Given the description of an element on the screen output the (x, y) to click on. 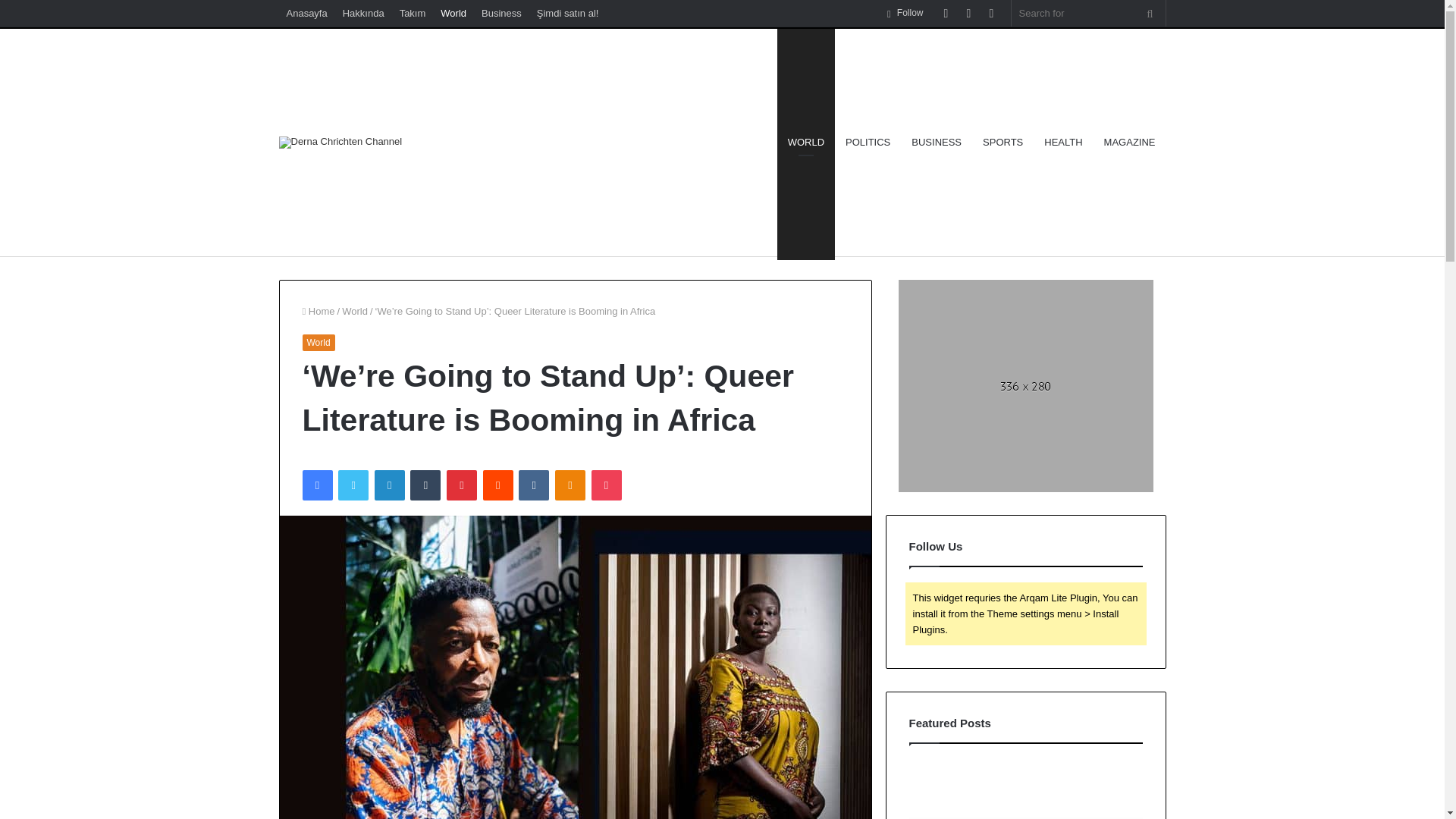
Odnoklassniki (569, 485)
Tumblr (425, 485)
Business (501, 13)
Twitter (352, 485)
Twitter (352, 485)
Anasayfa (306, 13)
World (453, 13)
LinkedIn (389, 485)
Reddit (498, 485)
Home (317, 310)
Derna Chrichten Channel (341, 142)
Search for (1088, 13)
POLITICS (867, 142)
Random Article (968, 13)
World (355, 310)
